Given the description of an element on the screen output the (x, y) to click on. 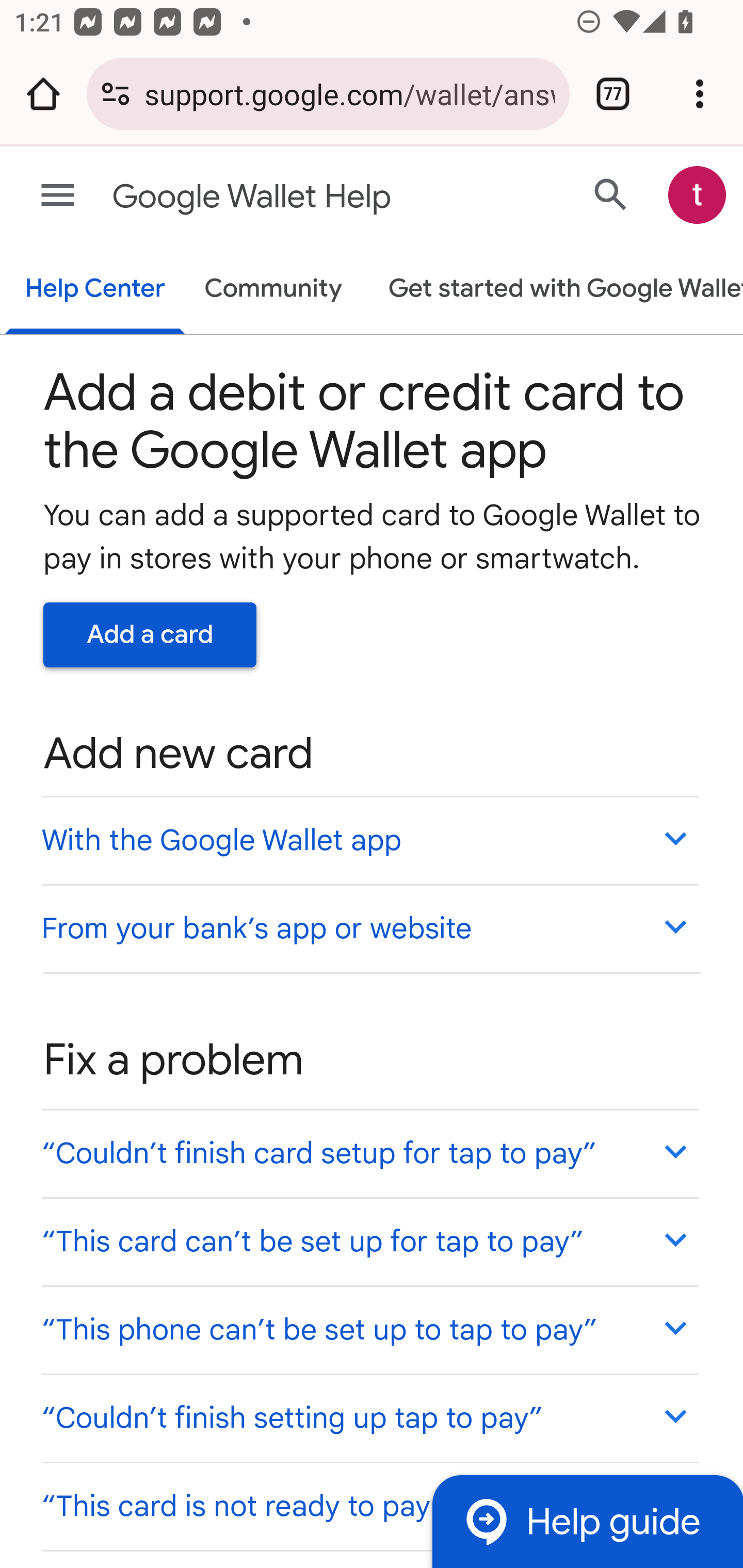
Open the home page (43, 93)
Connection is secure (115, 93)
Switch or close tabs (612, 93)
Customize and control Google Chrome (699, 93)
Main menu (58, 195)
Google Wallet Help (292, 197)
Search Help Center (611, 194)
Help Center (94, 289)
Community (273, 289)
Get started with Google Wallet (555, 289)
Add a card (150, 633)
With the Google Wallet app (369, 839)
From your bank’s app or website (369, 927)
“Couldn’t finish card setup for tap to pay” (369, 1152)
“This card can’t be set up for tap to pay” (369, 1240)
“This phone can’t be set up to tap to pay” (369, 1329)
“Couldn’t finish setting up tap to pay” (369, 1417)
“This card is not ready to pay online” (369, 1504)
Help guide (587, 1520)
